Given the description of an element on the screen output the (x, y) to click on. 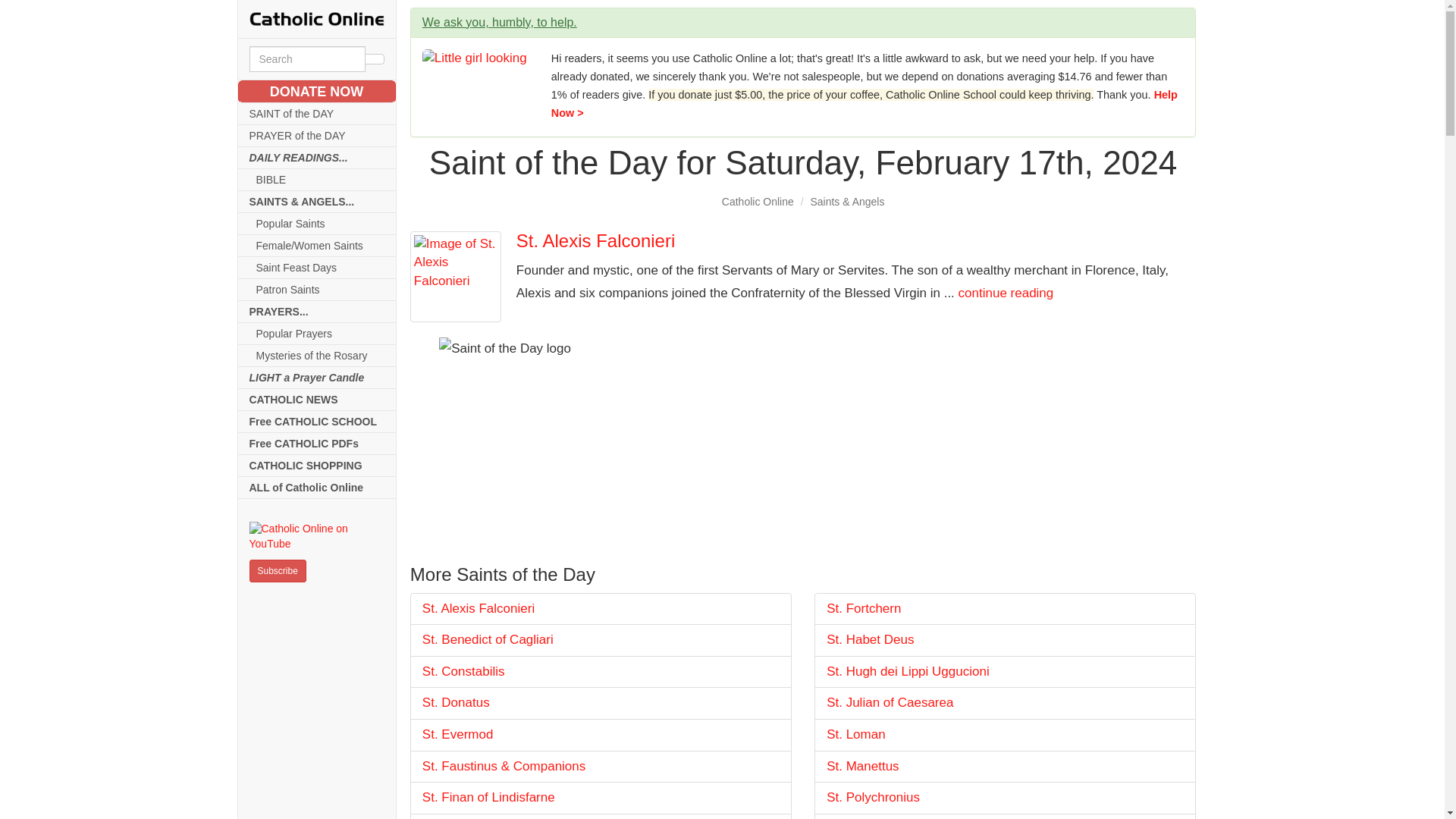
We ask you, humbly, to help. (499, 21)
CATHOLIC SHOPPING (317, 465)
Catholic Online on YouTube (316, 536)
Popular Saints (317, 223)
St. Alexis Falconieri (595, 240)
Free CATHOLIC PDFs (317, 444)
St. Alexis Falconieri (601, 608)
Mysteries of the Rosary (317, 355)
St. Benedict of Cagliari (601, 640)
CATHOLIC NEWS (317, 400)
BIBLE (317, 179)
continue reading (1006, 292)
Catholic Online: World's Catholic Library (316, 18)
Subscribe to Catholic Online Newsletter (276, 570)
DAILY READINGS... (317, 157)
